Given the description of an element on the screen output the (x, y) to click on. 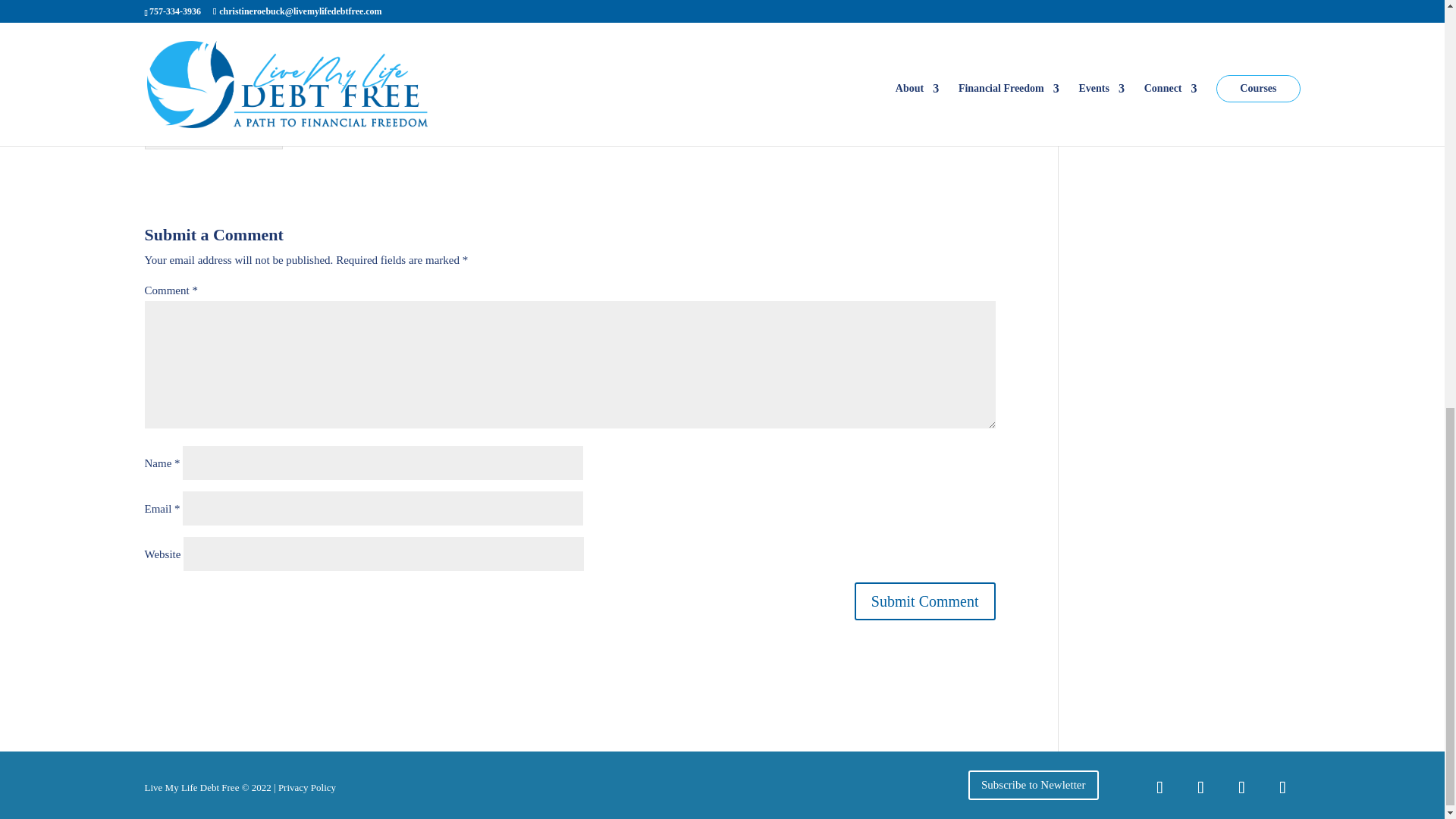
Privacy Policy (307, 787)
Submit Comment (924, 600)
Submit Comment (924, 600)
Subscribe to Newletter (1032, 785)
